Given the description of an element on the screen output the (x, y) to click on. 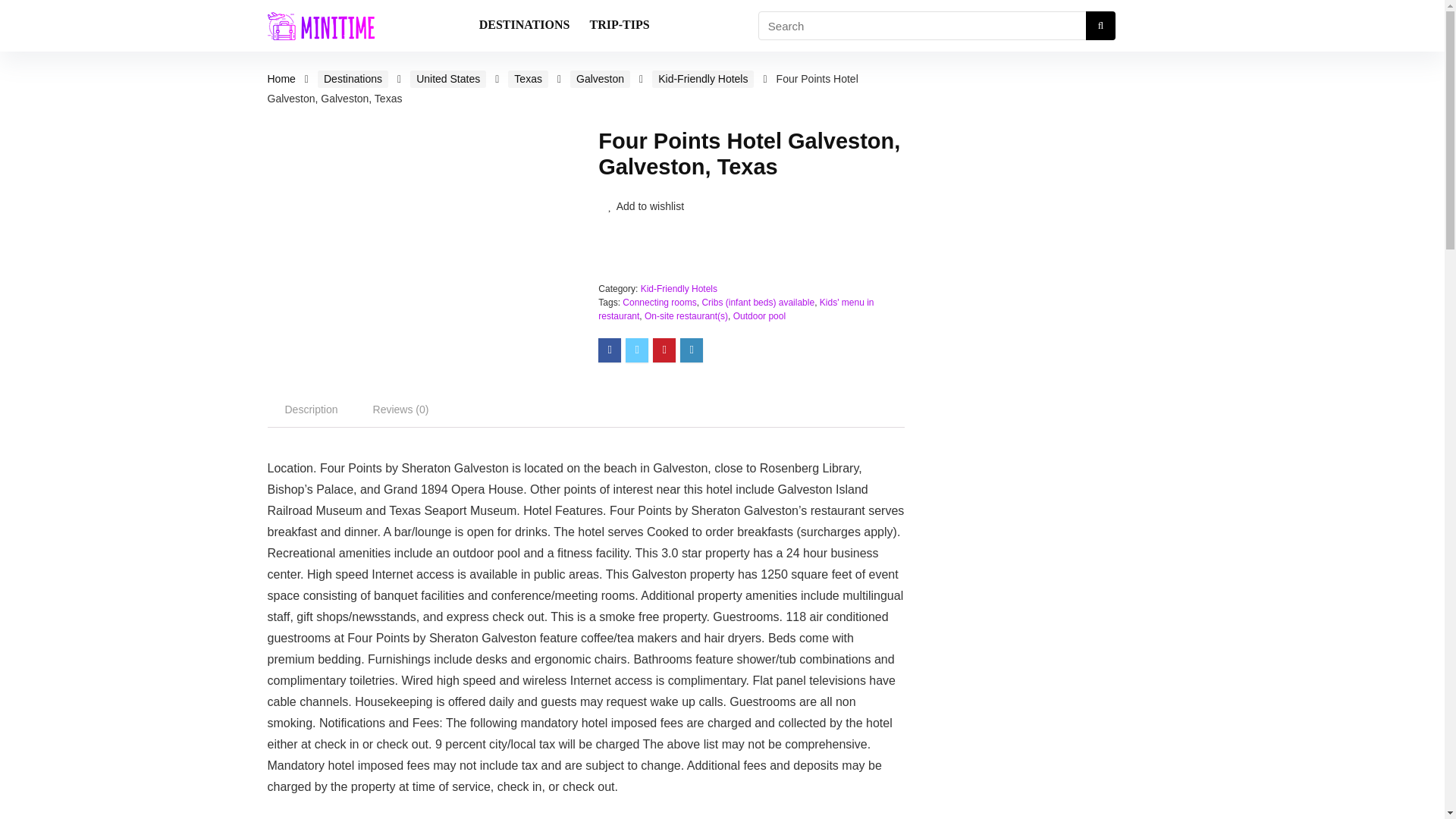
Description (310, 409)
Home (280, 78)
Destinations (352, 78)
Kids' menu in restaurant (735, 309)
DESTINATIONS (523, 25)
TRIP-TIPS (619, 25)
Galveston (600, 78)
Connecting rooms (659, 302)
Kid-Friendly Hotels (678, 288)
Texas (528, 78)
